Given the description of an element on the screen output the (x, y) to click on. 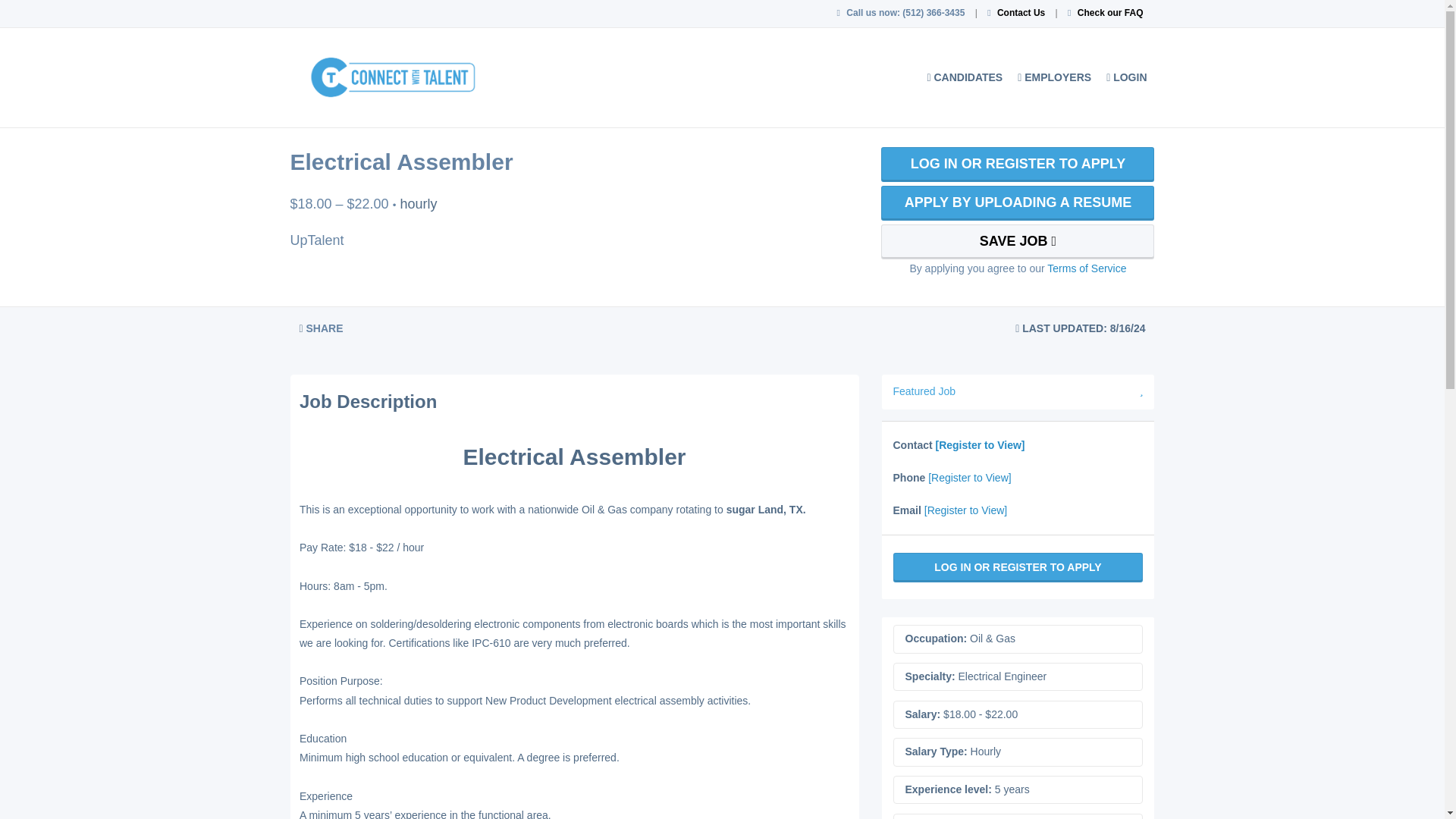
CANDIDATES (964, 77)
APPLY BY UPLOADING A RESUME (1017, 202)
Terms of Service (1085, 268)
SAVE JOB (1017, 241)
Contact Us (1021, 12)
EMPLOYERS (1054, 77)
LOG IN OR REGISTER TO APPLY (1017, 567)
LOG IN OR REGISTER TO APPLY (1017, 164)
Check our FAQ (1109, 12)
SHARE (320, 328)
